Given the description of an element on the screen output the (x, y) to click on. 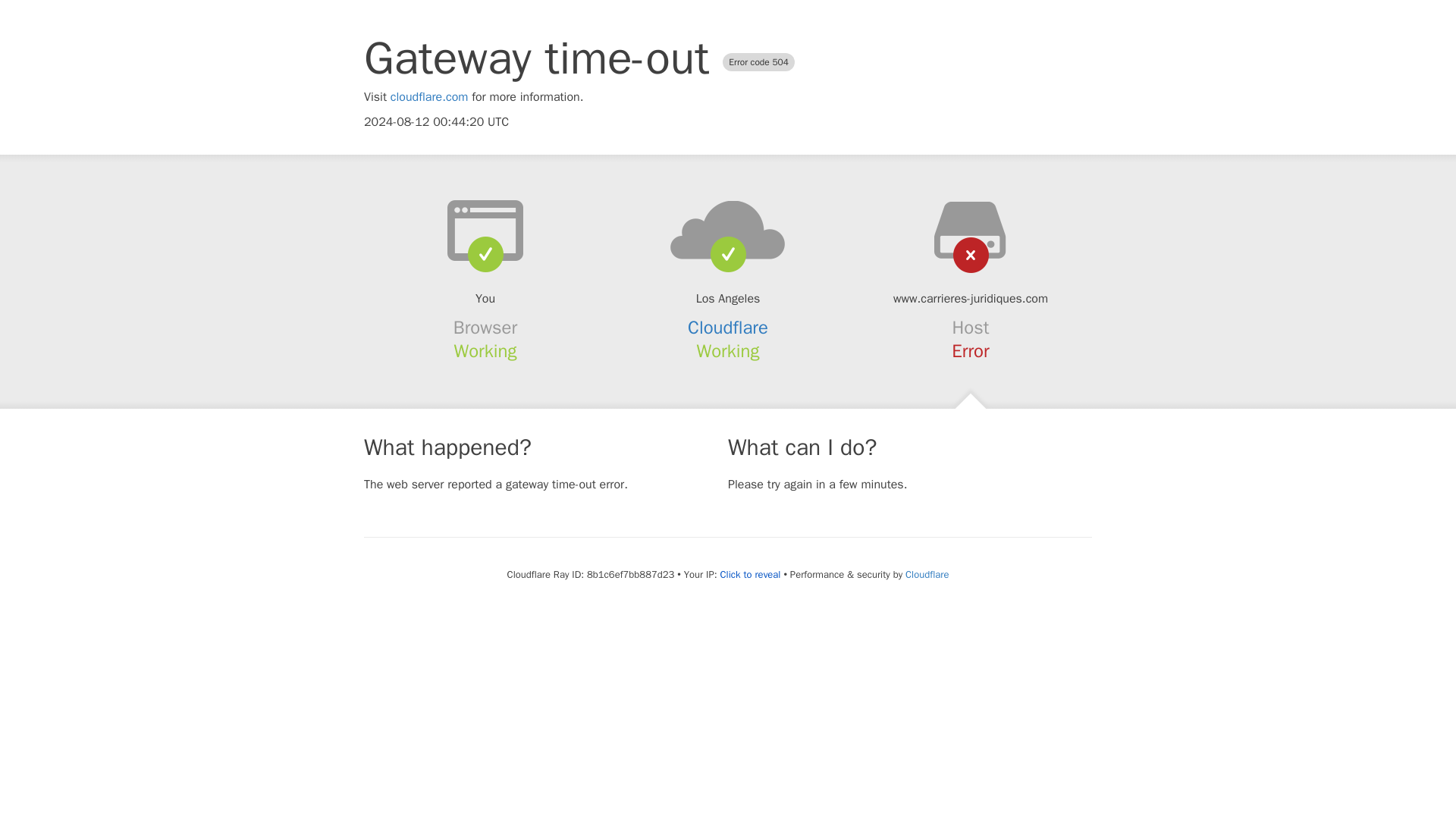
Cloudflare (927, 574)
Cloudflare (727, 327)
Click to reveal (750, 574)
cloudflare.com (429, 96)
